Given the description of an element on the screen output the (x, y) to click on. 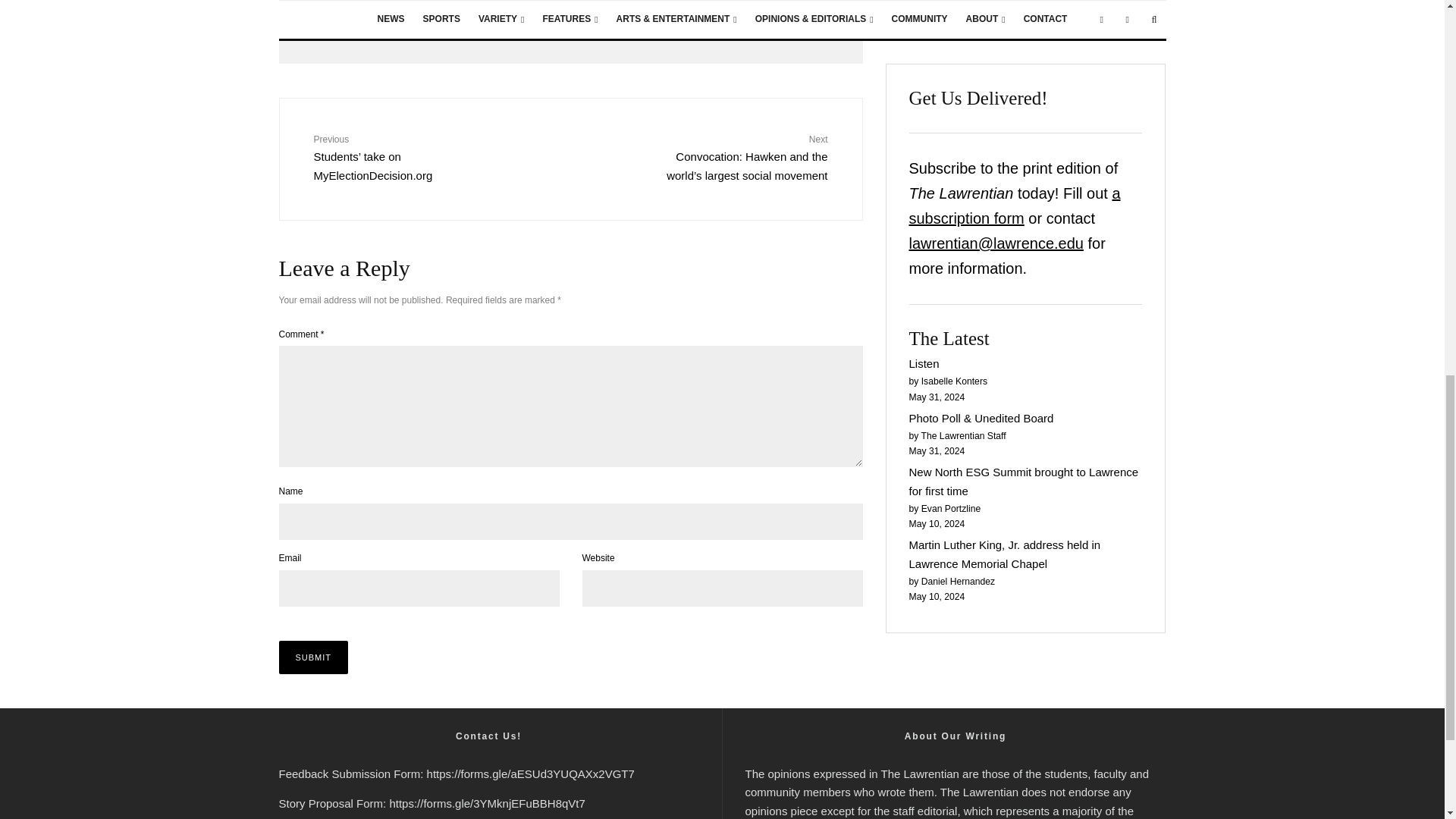
Submit (314, 657)
Page 11 (955, 791)
